Given the description of an element on the screen output the (x, y) to click on. 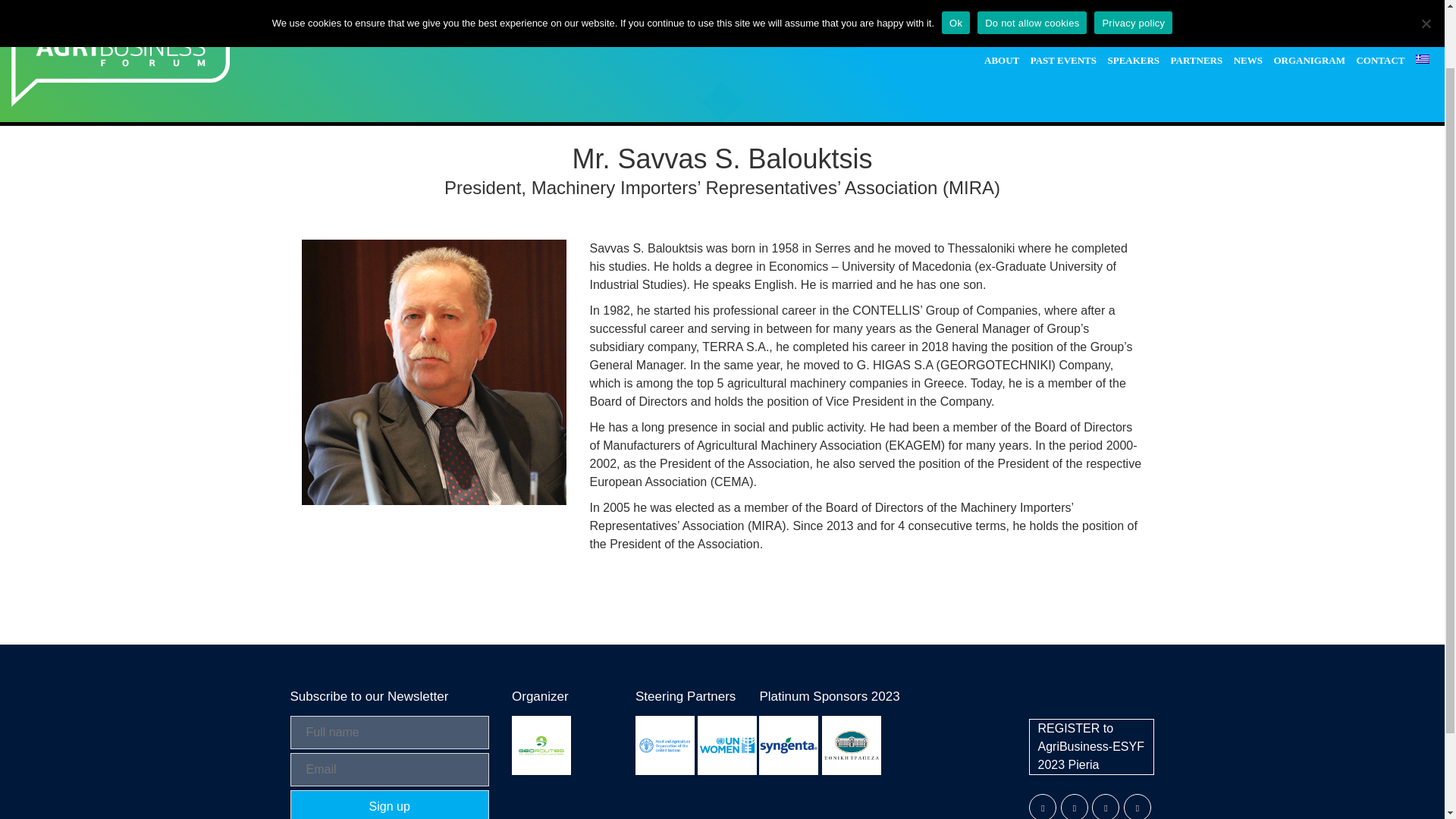
NEWS (1247, 10)
logo (120, 18)
ORGANIGRAM (1308, 10)
PAST EVENTS (1063, 10)
PARTNERS (1196, 10)
CONTACT (1380, 10)
SPEAKERS (1132, 10)
ABOUT (1001, 10)
REGISTER to AgriBusiness-ESYF 2023 Pieria (1091, 746)
